Given the description of an element on the screen output the (x, y) to click on. 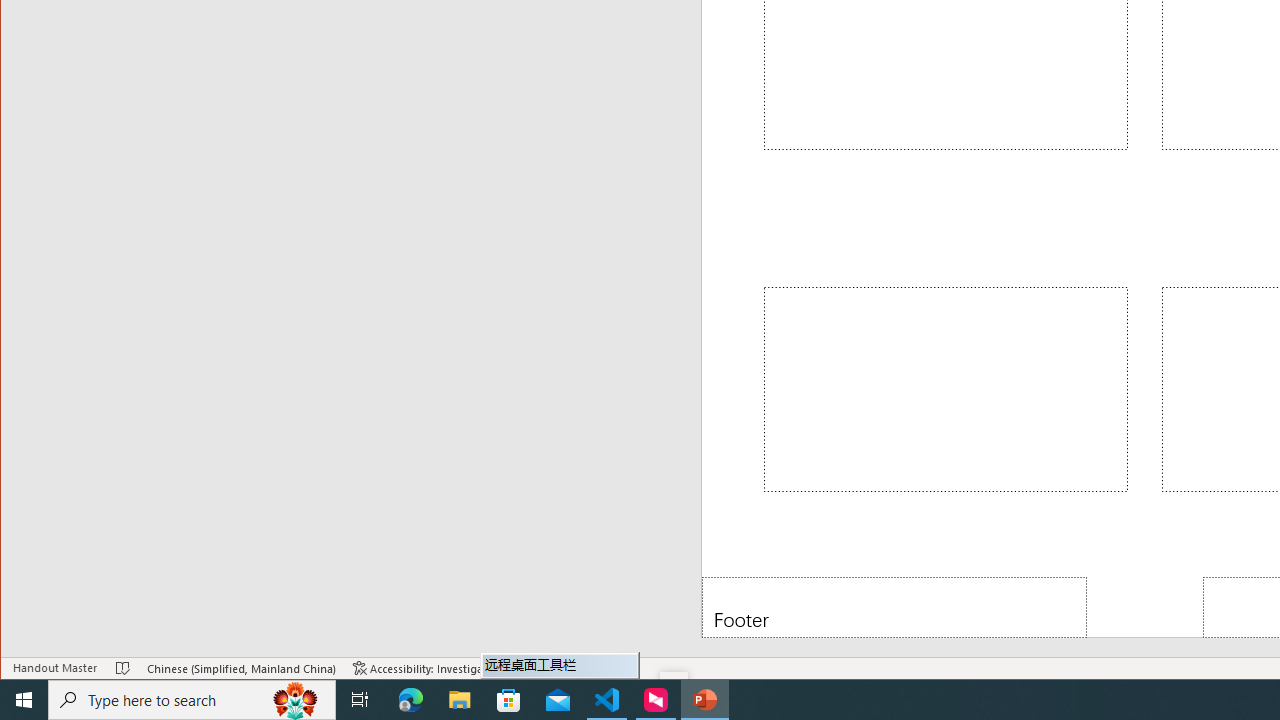
Microsoft Store (509, 699)
Search highlights icon opens search home window (295, 699)
Visual Studio Code - 1 running window (607, 699)
File Explorer (460, 699)
Task View (359, 699)
PowerPoint - 1 running window (704, 699)
Type here to search (191, 699)
Microsoft Edge (411, 699)
Footer (893, 606)
Start (24, 699)
